Given the description of an element on the screen output the (x, y) to click on. 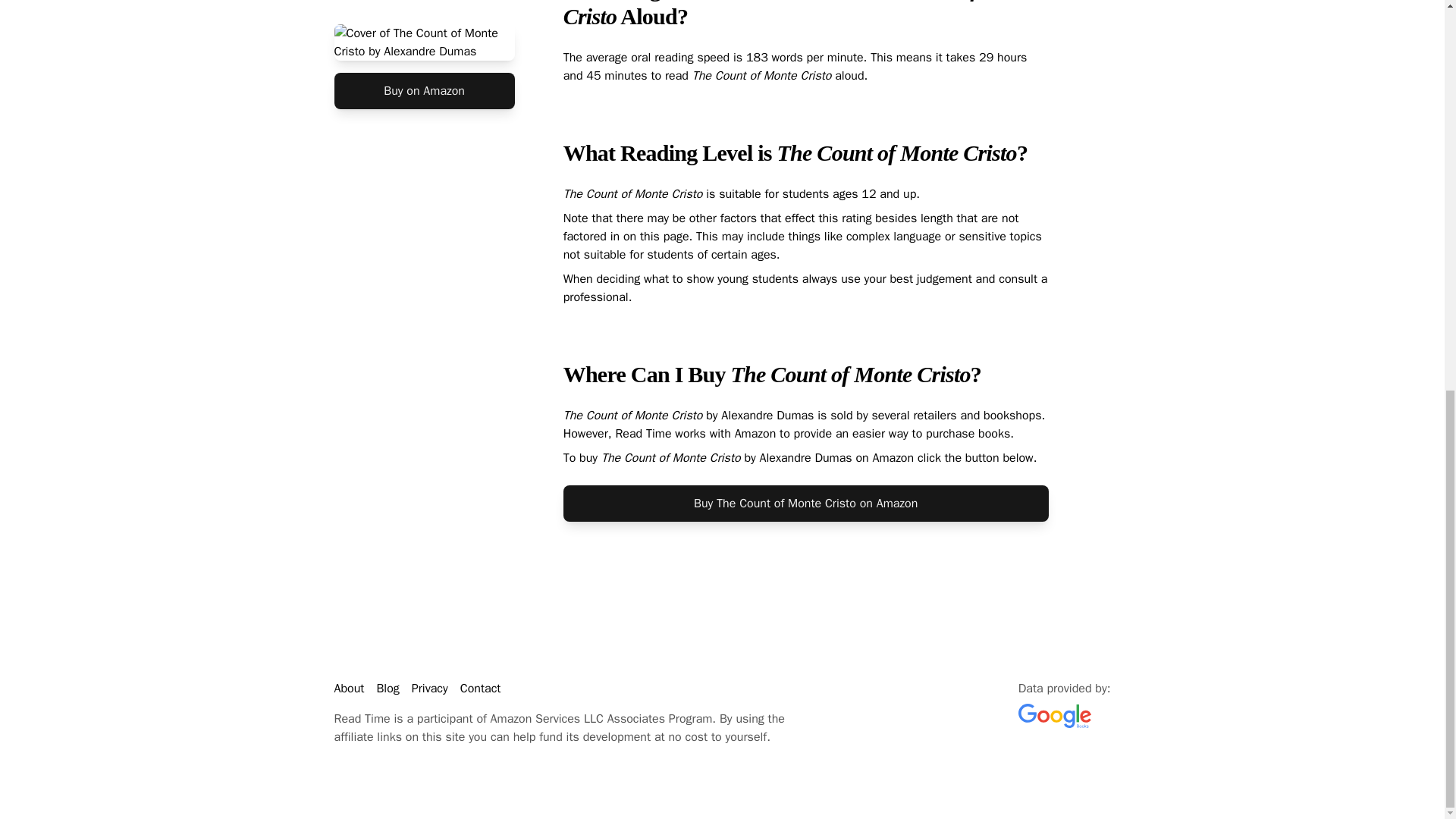
Privacy (430, 688)
Contact (480, 688)
About (348, 688)
Blog (386, 688)
Buy The Count of Monte Cristo on Amazon (805, 503)
